Given the description of an element on the screen output the (x, y) to click on. 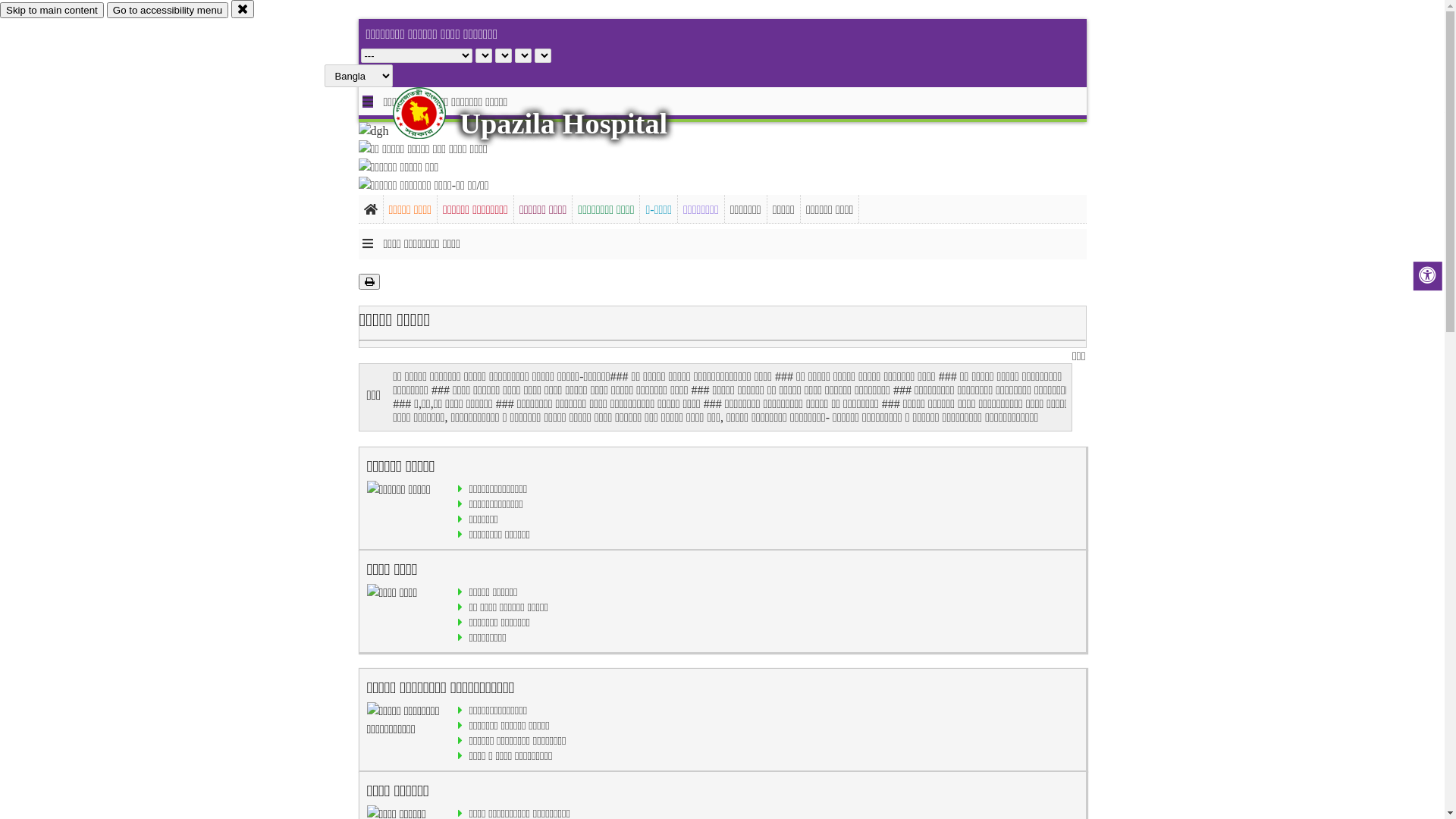
Upazila Hospital Element type: text (563, 123)
close Element type: hover (242, 9)
Go to accessibility menu Element type: text (167, 10)

                
             Element type: hover (431, 112)
Skip to main content Element type: text (51, 10)
